Given the description of an element on the screen output the (x, y) to click on. 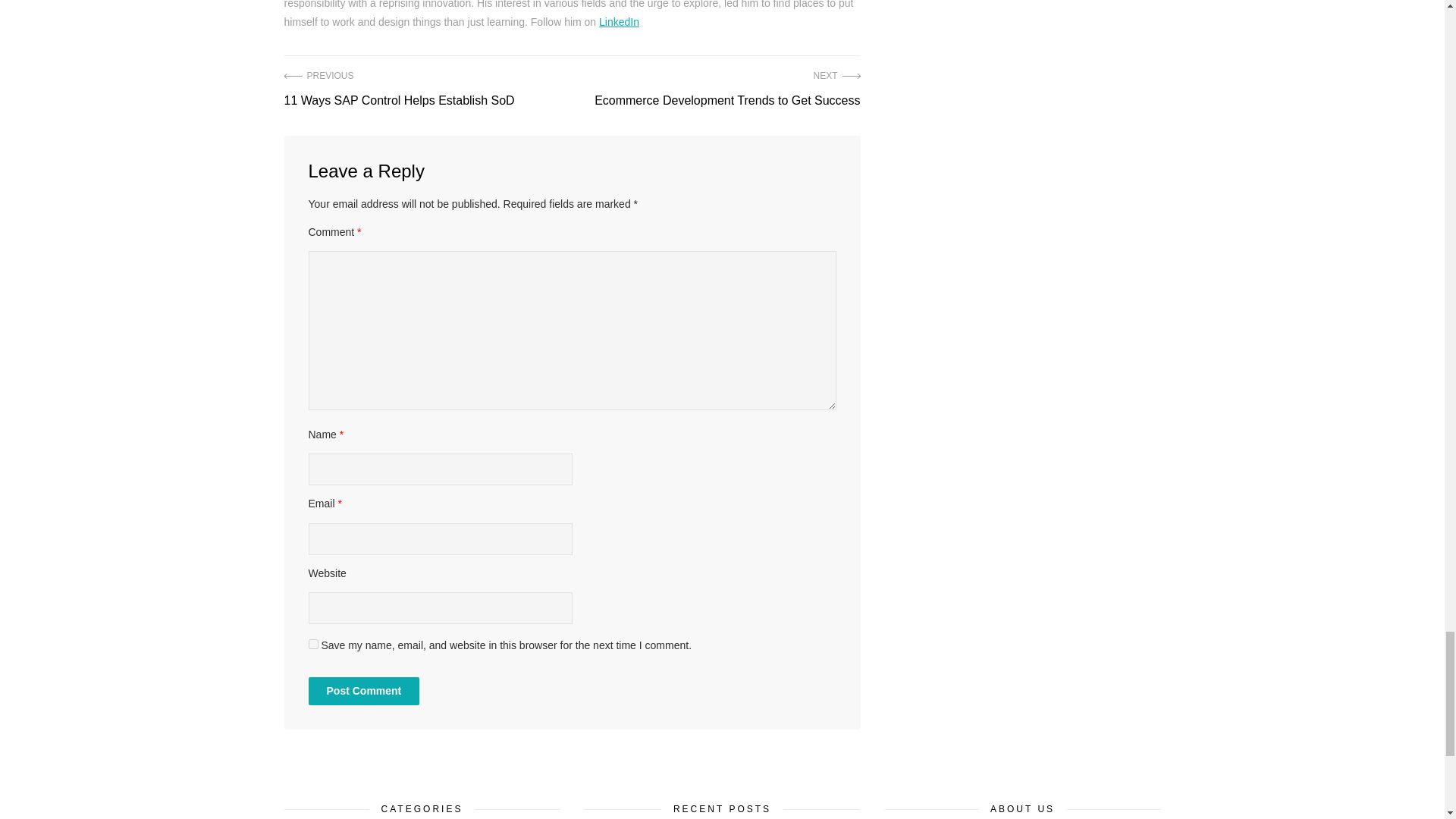
LinkedIn (618, 21)
Post Comment (727, 89)
yes (363, 691)
